Given the description of an element on the screen output the (x, y) to click on. 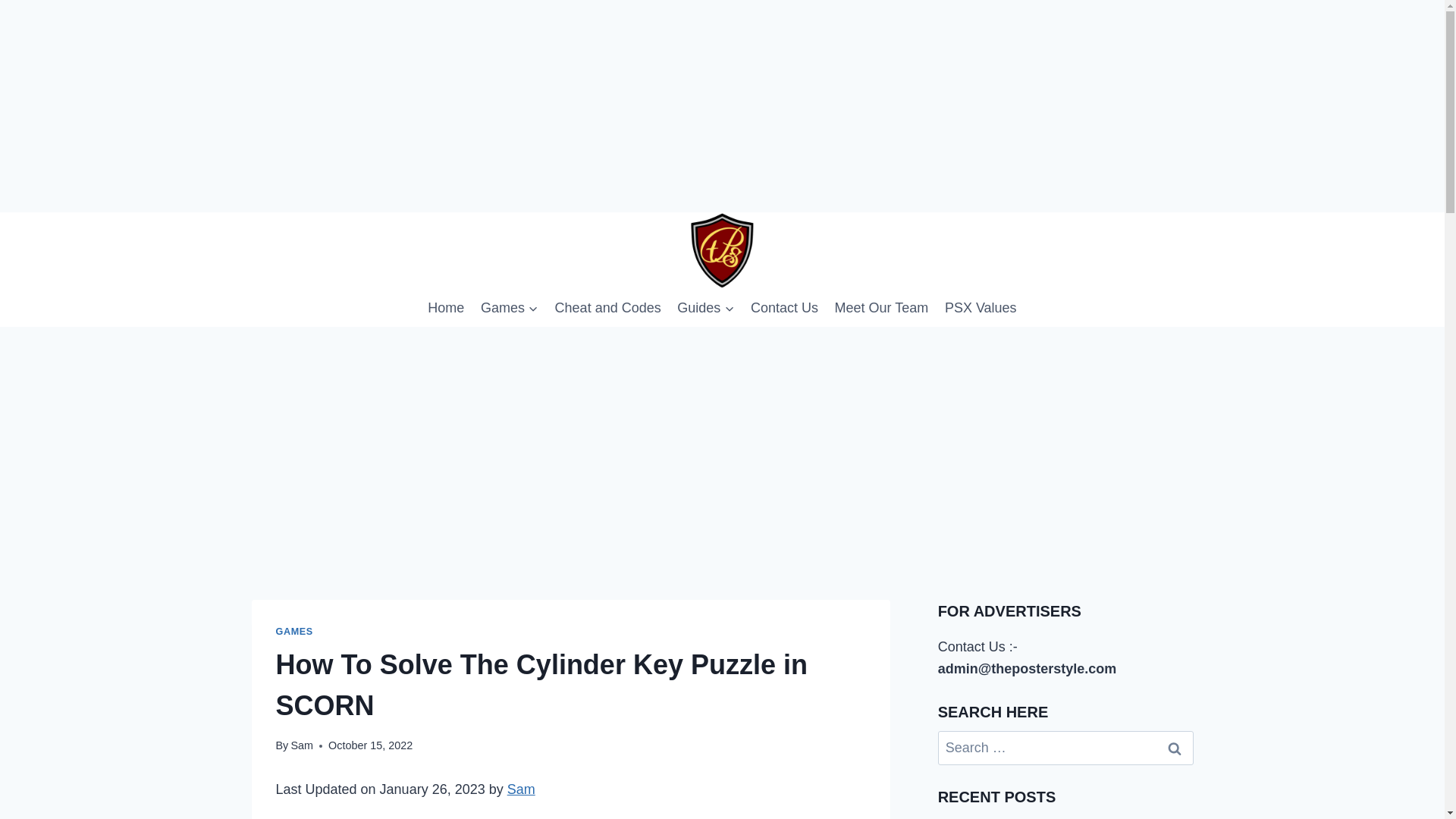
Cheat and Codes (608, 307)
Guides (705, 307)
Sam (301, 745)
PSX Values (980, 307)
Home (446, 307)
Sam (520, 789)
Search (1174, 747)
Search (1174, 747)
